Given the description of an element on the screen output the (x, y) to click on. 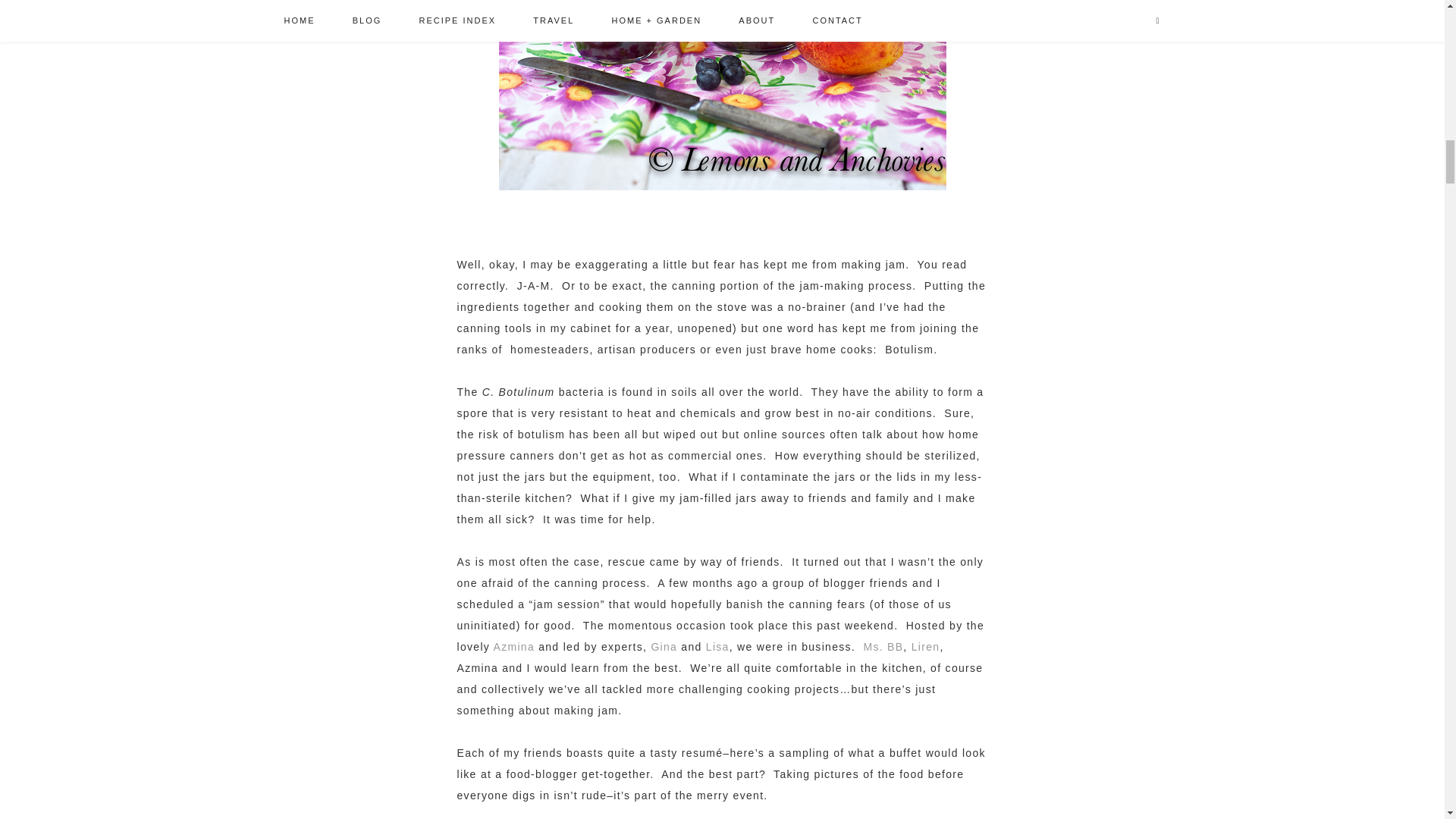
Azmina (513, 646)
Lisa (717, 646)
Nectarine-Blueberry Jam-3 (722, 95)
Liren (925, 646)
Gina (663, 646)
Ms. BB (882, 646)
